Given the description of an element on the screen output the (x, y) to click on. 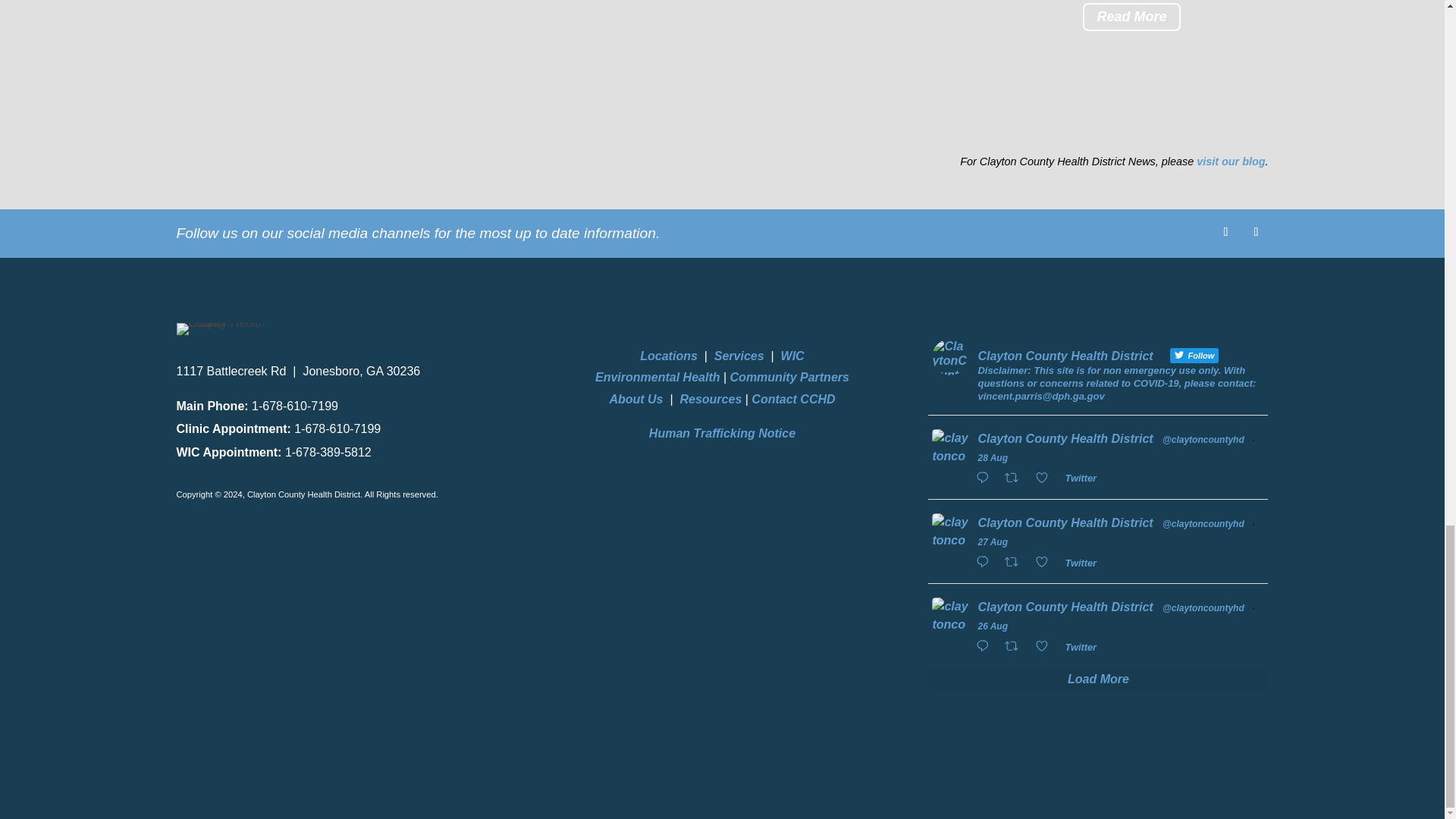
Follow on Facebook (1224, 232)
Clayton County Health District (221, 328)
Follow on X (1255, 232)
